Given the description of an element on the screen output the (x, y) to click on. 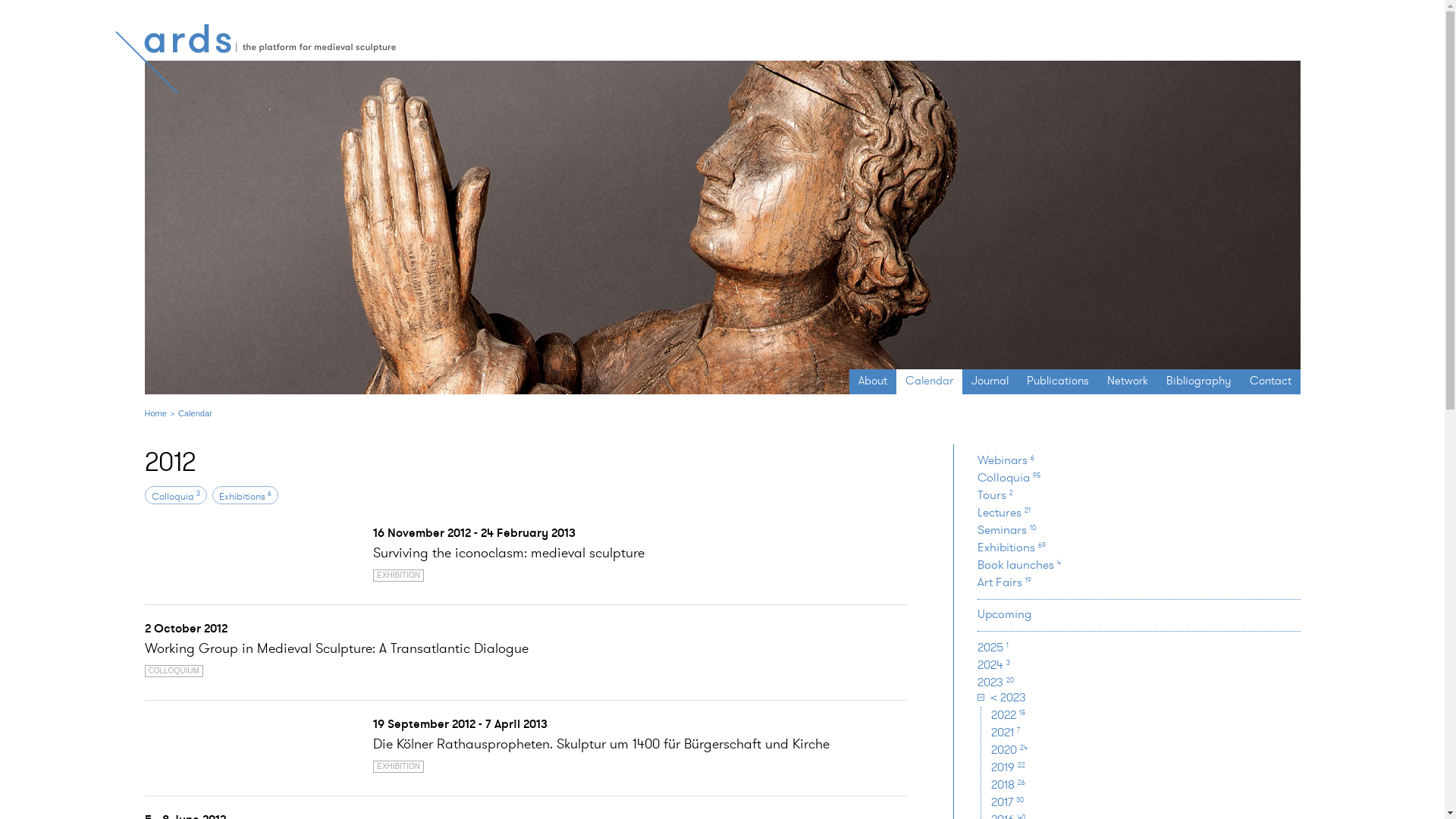
Journal Element type: text (988, 380)
2024 3 Element type: text (993, 664)
2017 30 Element type: text (1007, 801)
2020 24 Element type: text (1009, 749)
Book launches 4 Element type: text (1018, 564)
Upcoming Element type: text (1004, 613)
2019 22 Element type: text (1008, 767)
Exhibitions 6 Element type: text (244, 495)
Bibliography Element type: text (1198, 380)
About Element type: text (872, 380)
Ards Element type: hover (256, 59)
Exhibitions 69 Element type: text (1011, 547)
2018 26 Element type: text (1008, 784)
Surviving the iconoclasm: medieval sculpture Element type: text (508, 552)
Webinars 6 Element type: text (1005, 459)
Calendar Element type: text (195, 412)
Tours 2 Element type: text (995, 494)
Art Fairs 19 Element type: text (1004, 581)
Network Element type: text (1127, 380)
16 November 2012 - 24 February 2013 Element type: text (474, 531)
Seminars 10 Element type: text (1006, 529)
Home Element type: text (155, 412)
Lectures 21 Element type: text (1003, 512)
Publications Element type: text (1057, 380)
2 October 2012 Element type: text (185, 627)
2021 7 Element type: text (1005, 732)
Calendar Element type: text (929, 380)
2023 20 Element type: text (995, 682)
Colloquia 95 Element type: text (1008, 477)
Colloquia 3 Element type: text (175, 495)
19 September 2012 - 7 April 2013 Element type: text (460, 723)
Contact Element type: text (1270, 380)
2022 15 Element type: text (1008, 714)
2025 1 Element type: text (992, 647)
